Given the description of an element on the screen output the (x, y) to click on. 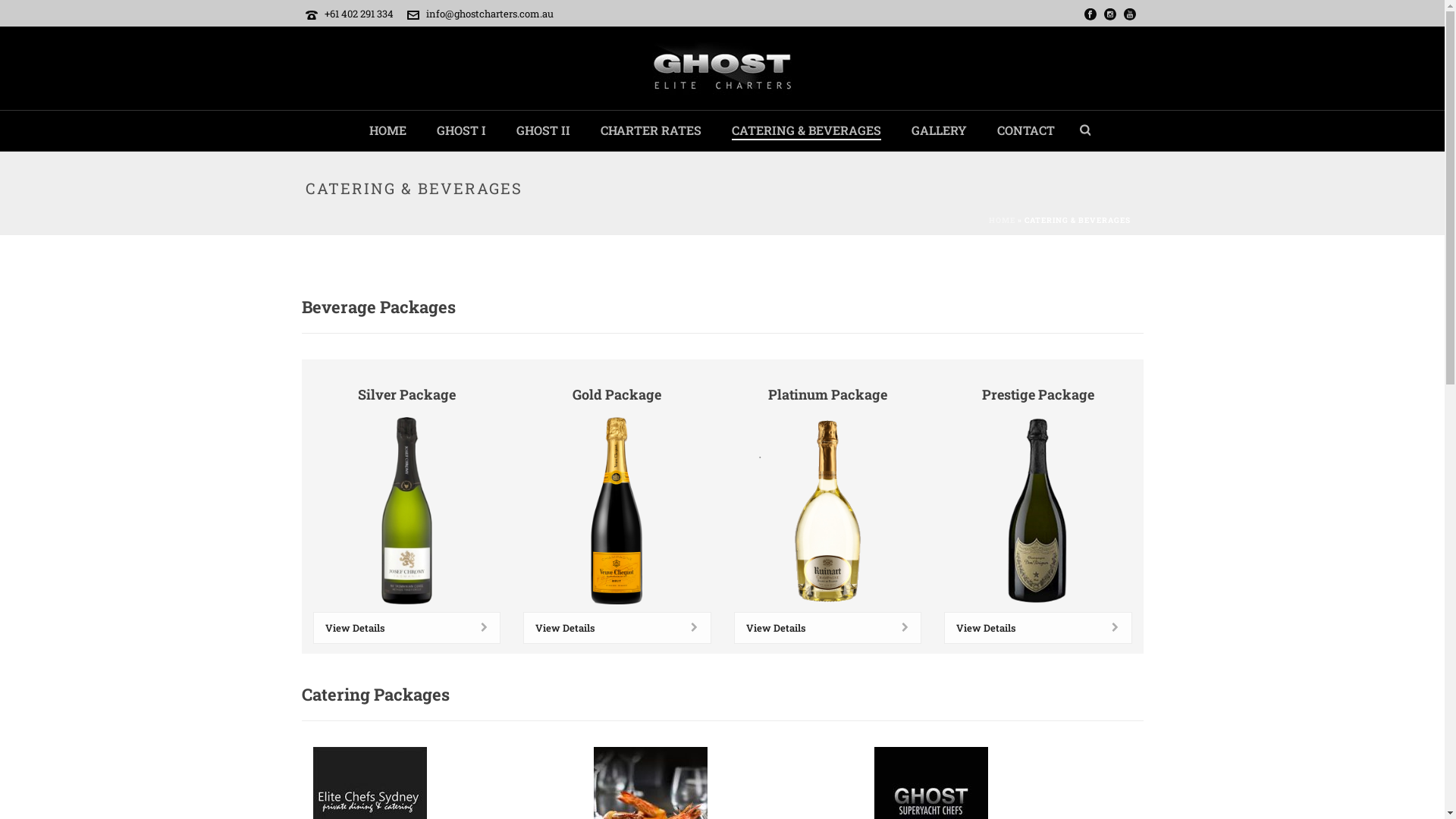
HOME Element type: text (1001, 220)
+61 402 291 334 Element type: text (358, 13)
CHARTER RATES Element type: text (650, 130)
Luxury Yacht Charters Element type: hover (722, 68)
CONTACT Element type: text (1026, 130)
info@ghostcharters.com.au Element type: text (489, 13)
HOME Element type: text (387, 130)
GALLERY Element type: text (939, 130)
GHOST II Element type: text (543, 130)
Ghost Elite Charters Element type: hover (722, 67)
CATERING & BEVERAGES Element type: text (806, 130)
GHOST I Element type: text (461, 130)
